Given the description of an element on the screen output the (x, y) to click on. 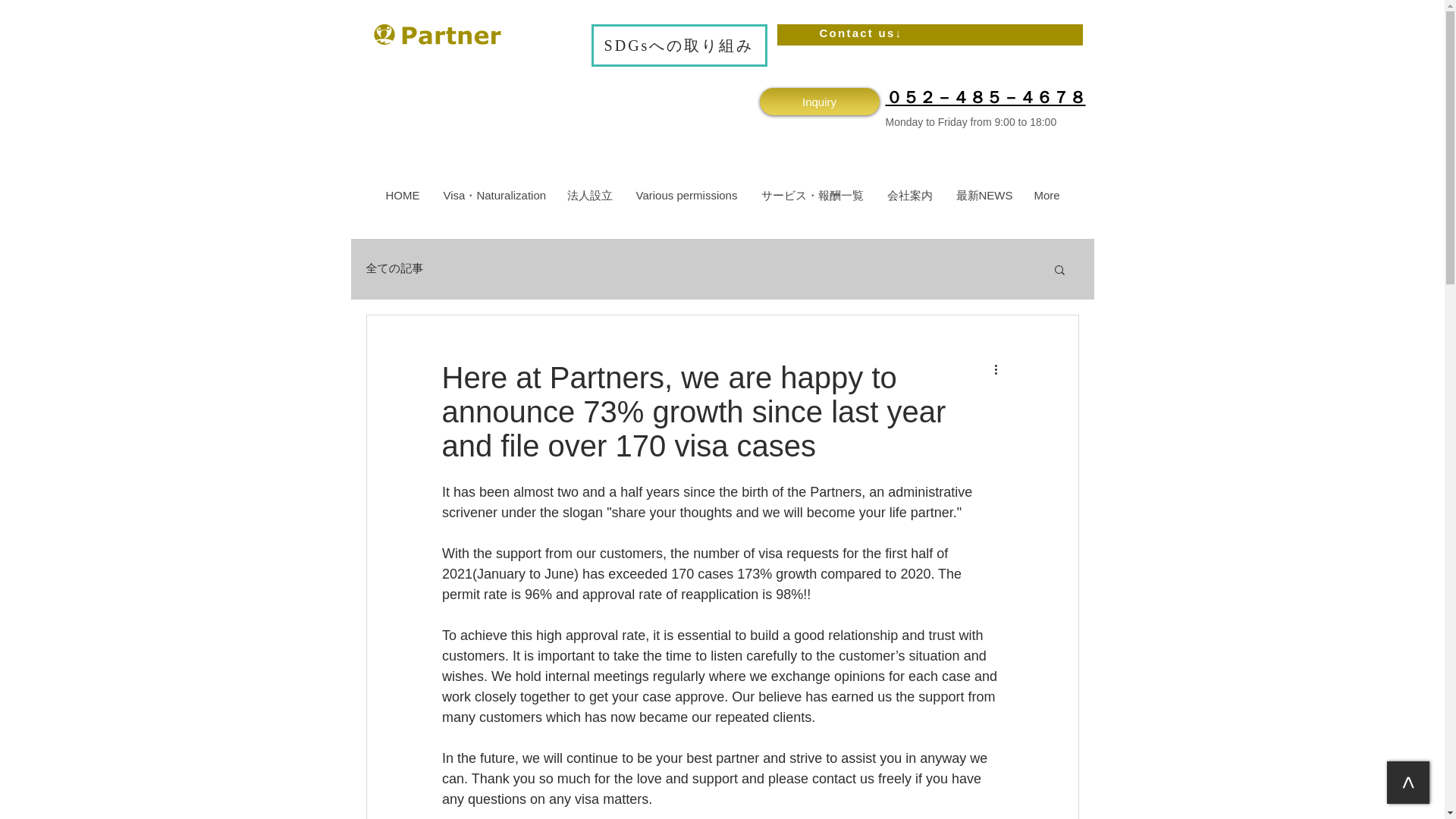
Various permissions (685, 195)
Inquiry (819, 101)
HOME (401, 195)
